Given the description of an element on the screen output the (x, y) to click on. 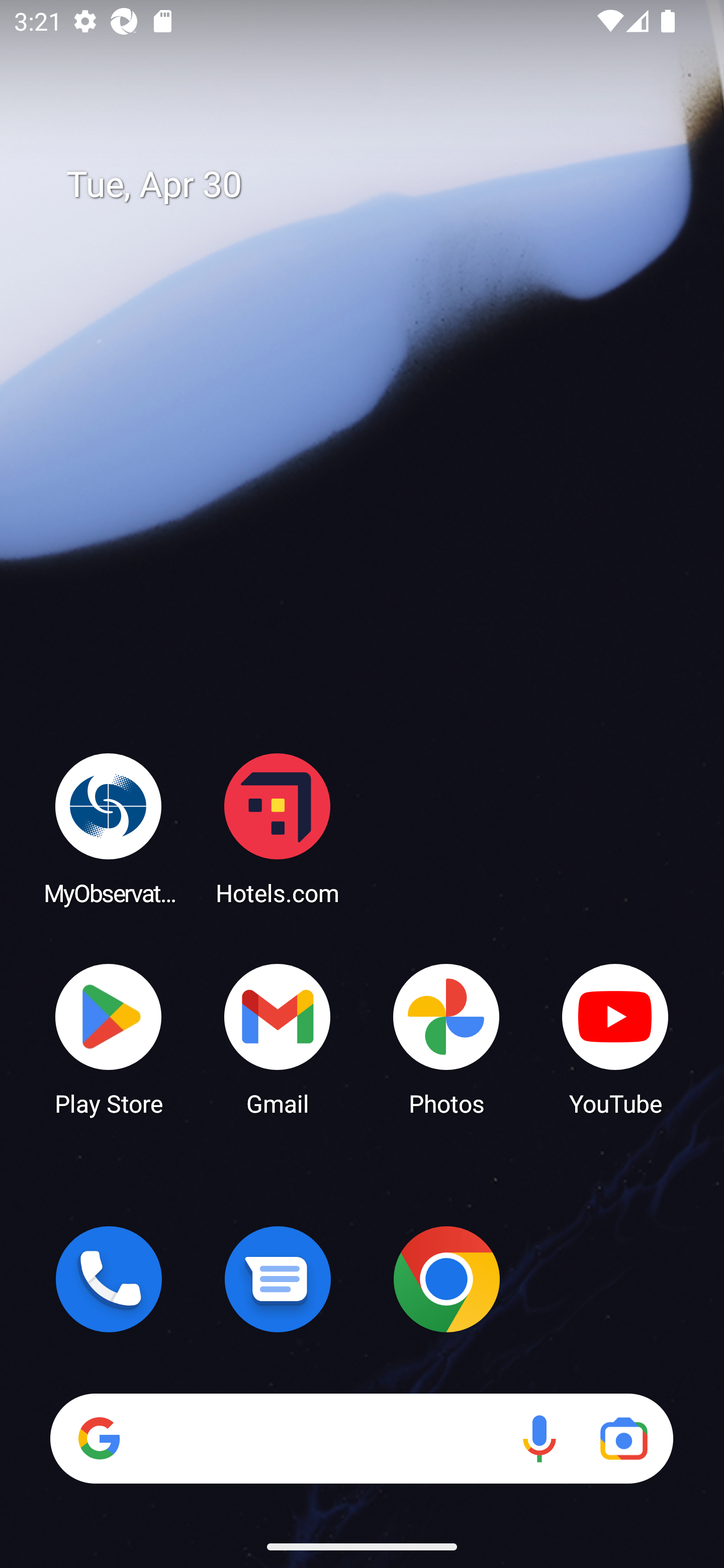
Tue, Apr 30 (375, 184)
MyObservatory (108, 828)
Hotels.com (277, 828)
Play Store (108, 1038)
Gmail (277, 1038)
Photos (445, 1038)
YouTube (615, 1038)
Phone (108, 1279)
Messages (277, 1279)
Chrome (446, 1279)
Voice search (539, 1438)
Google Lens (623, 1438)
